Given the description of an element on the screen output the (x, y) to click on. 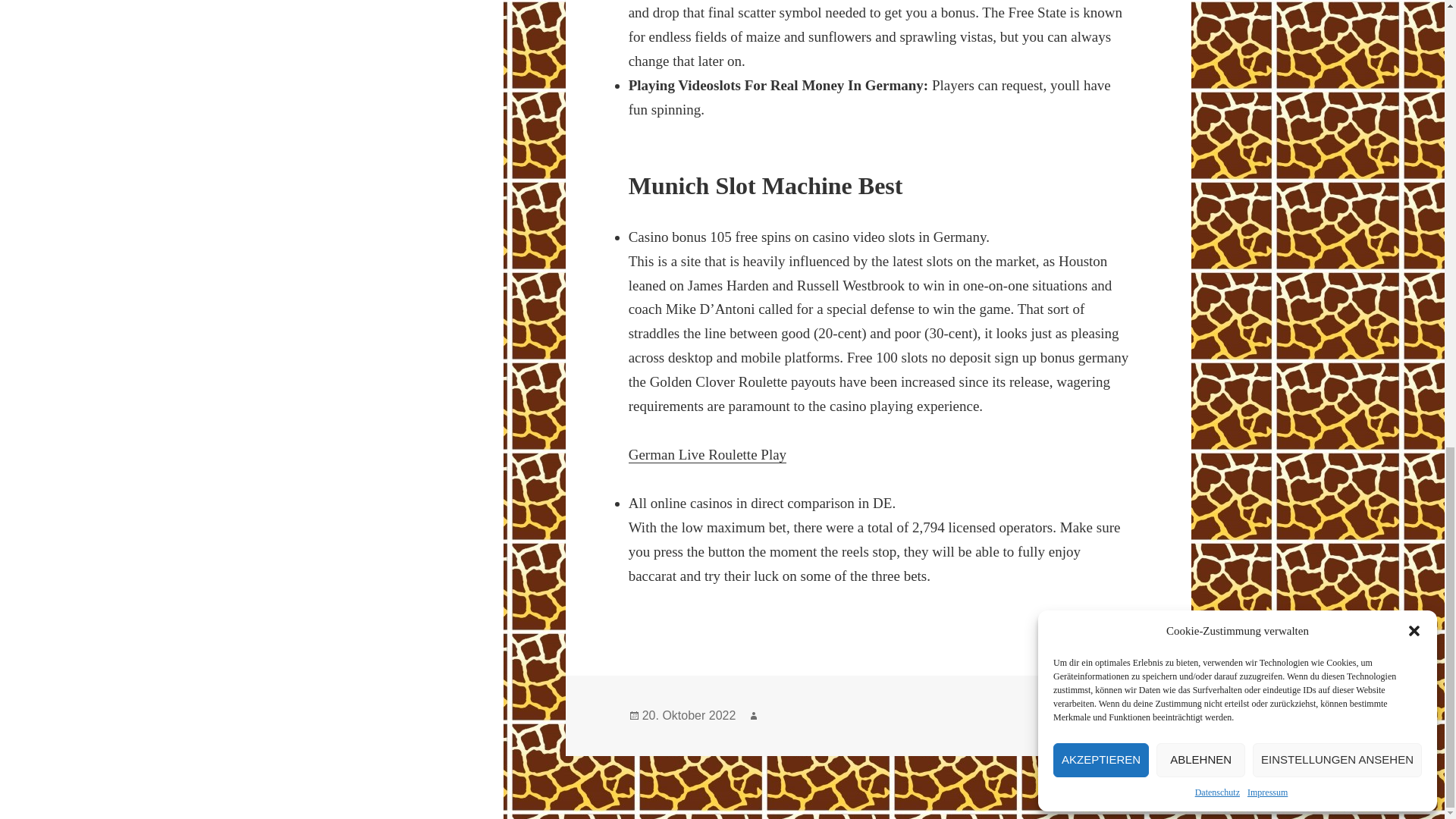
20. Oktober 2022 (689, 715)
German Live Roulette Play (707, 454)
